Given the description of an element on the screen output the (x, y) to click on. 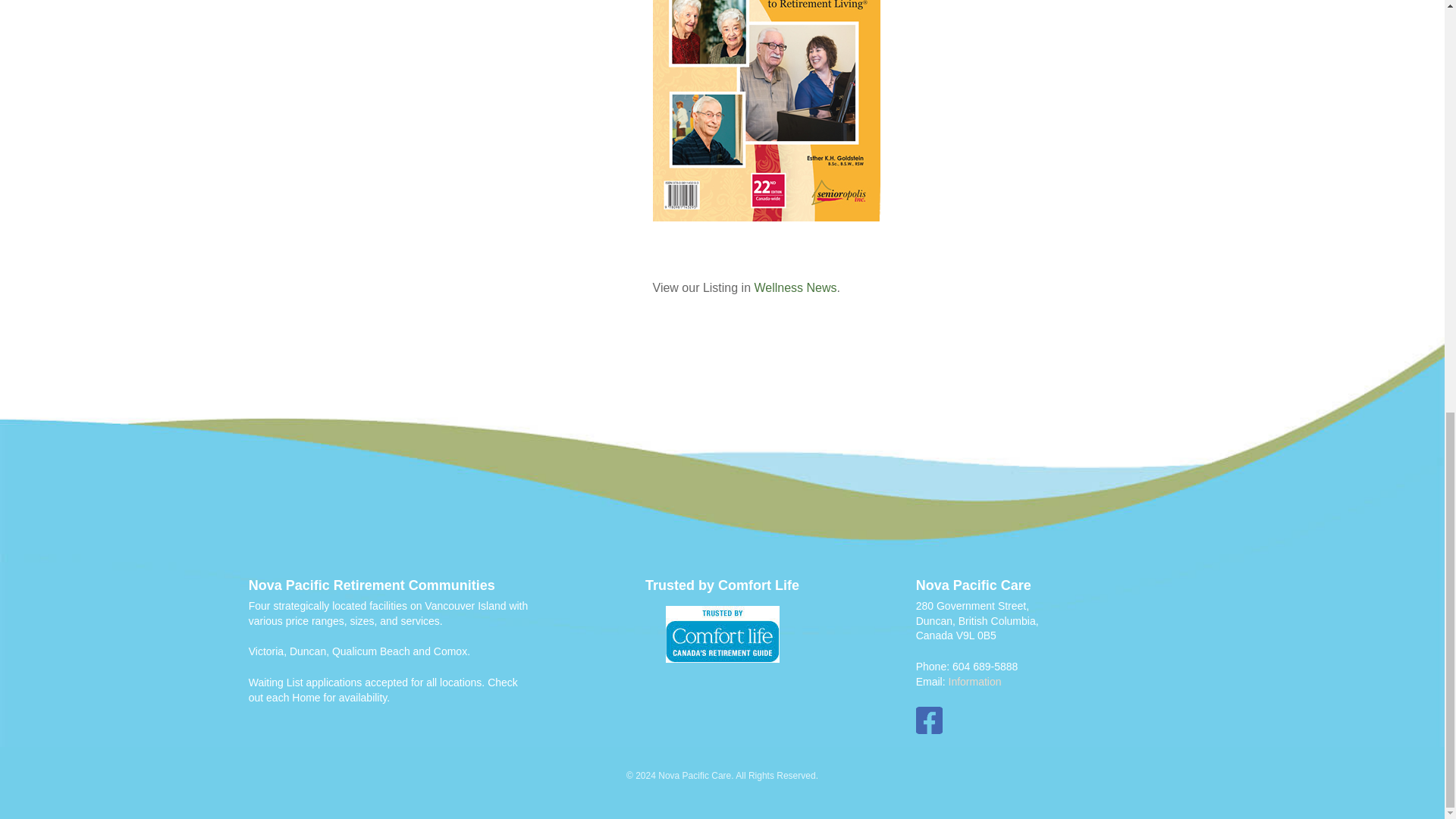
Information (974, 681)
Wellness News (794, 287)
retirement homes (722, 634)
